Given the description of an element on the screen output the (x, y) to click on. 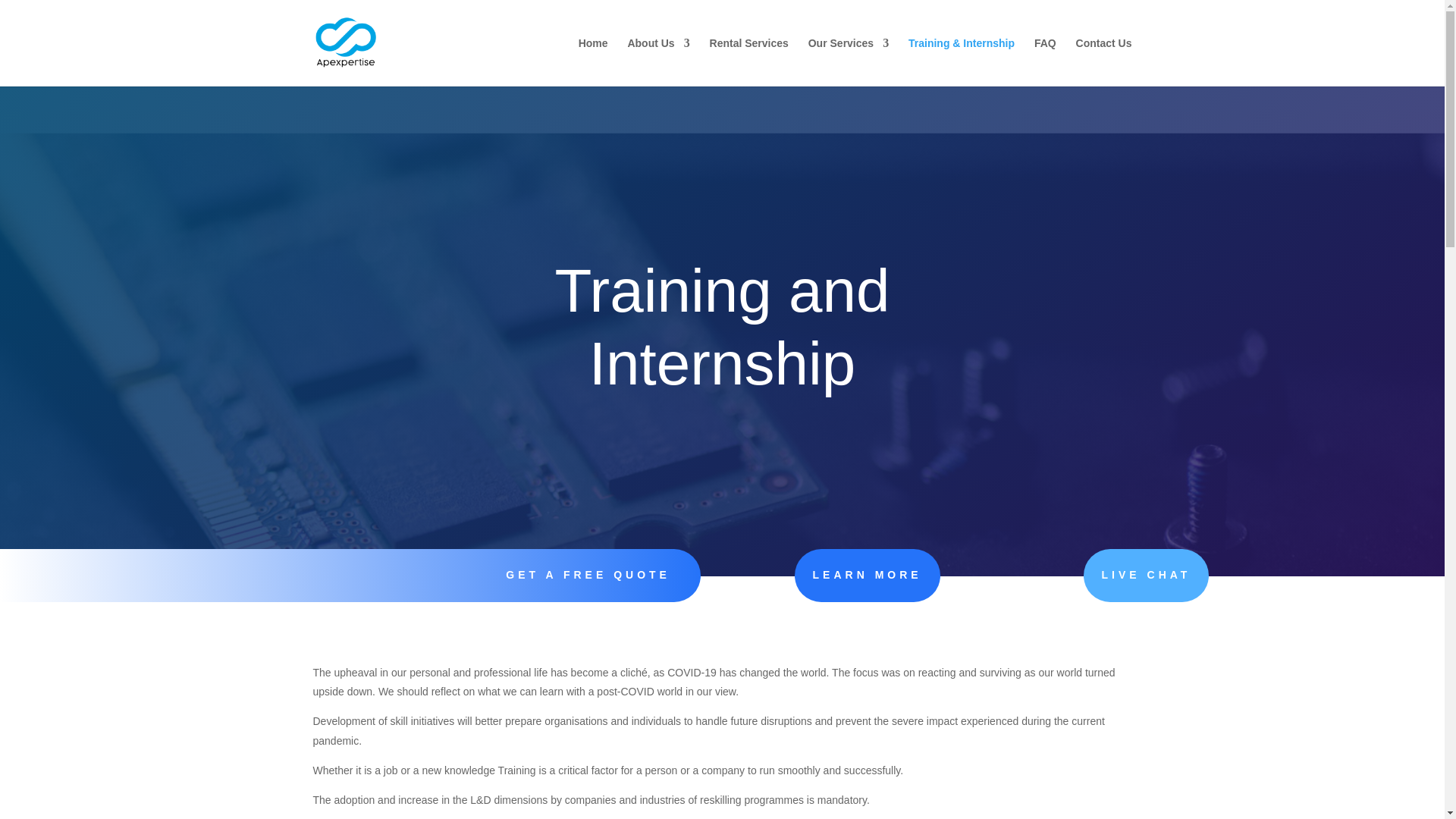
LIVE CHAT (1146, 574)
Contact Us (1103, 61)
LEARN MORE (867, 574)
Rental Services (749, 61)
Our Services (848, 61)
About Us (657, 61)
GET A FREE QUOTE (587, 574)
